Given the description of an element on the screen output the (x, y) to click on. 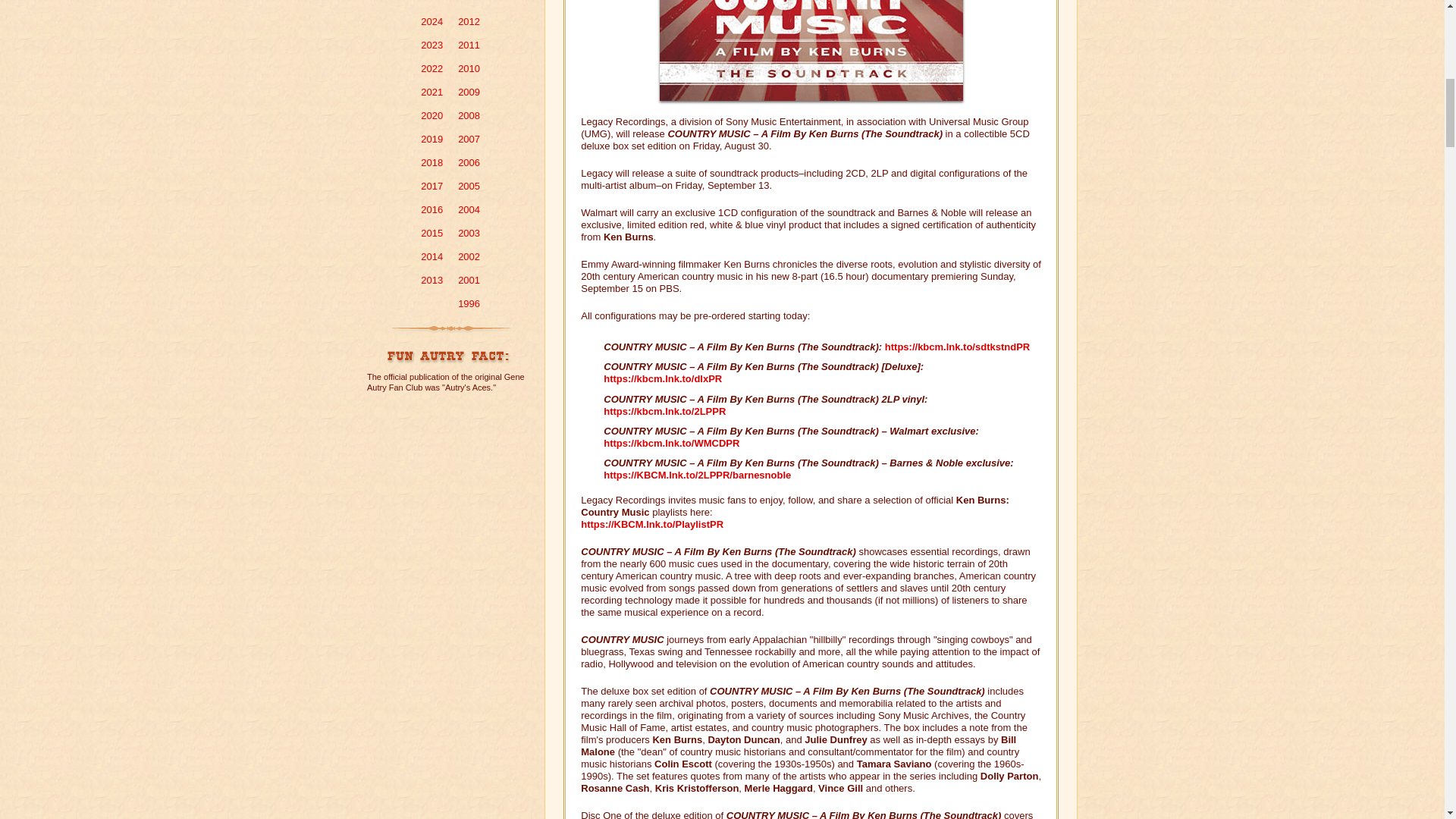
2024 (431, 21)
2016 (431, 209)
2023 (431, 44)
2014 (431, 256)
2017 (431, 185)
2021 (431, 91)
2020 (431, 115)
2022 (431, 68)
2018 (431, 162)
2015 (431, 233)
